Given the description of an element on the screen output the (x, y) to click on. 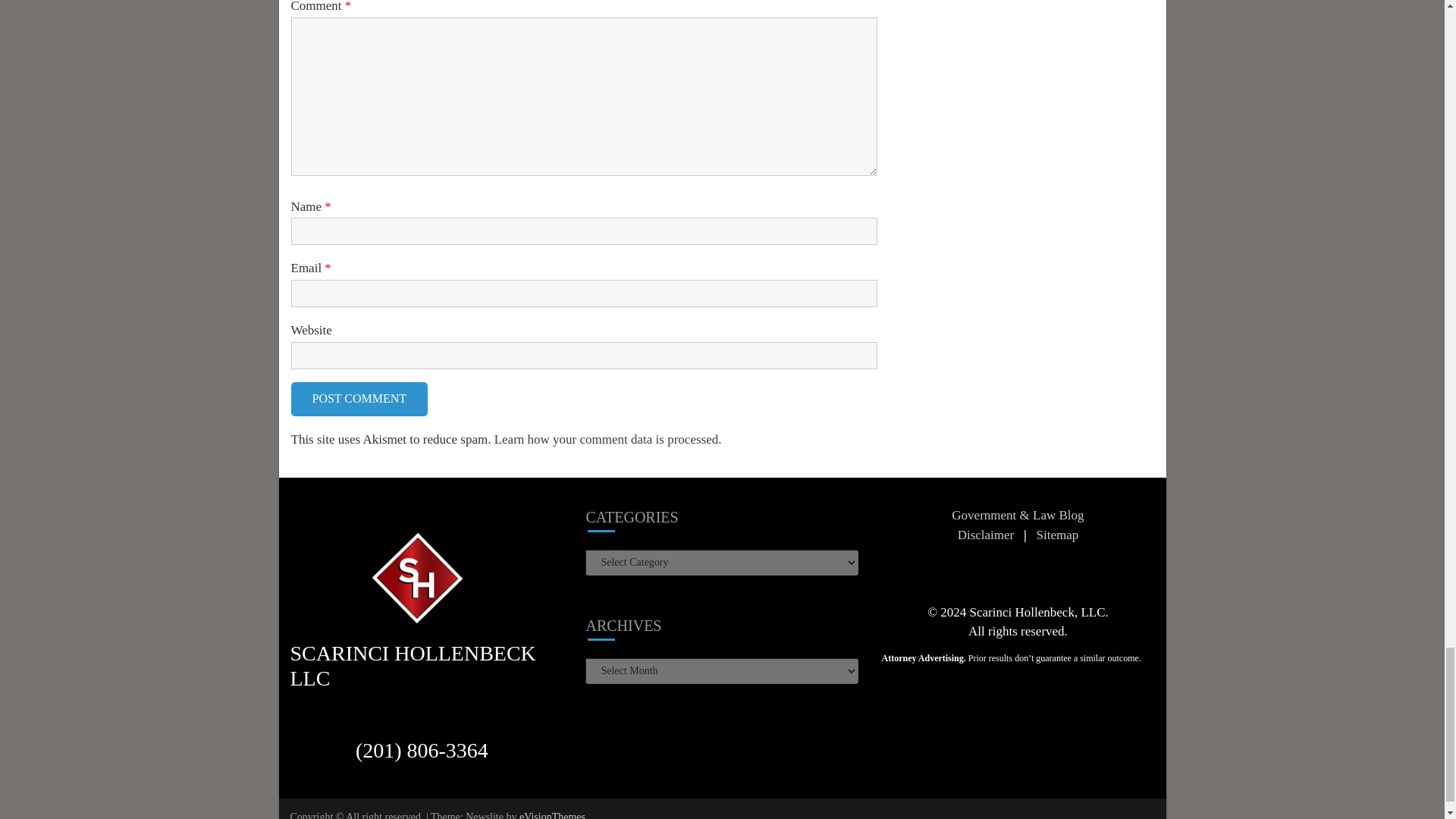
Post Comment (359, 399)
